Given the description of an element on the screen output the (x, y) to click on. 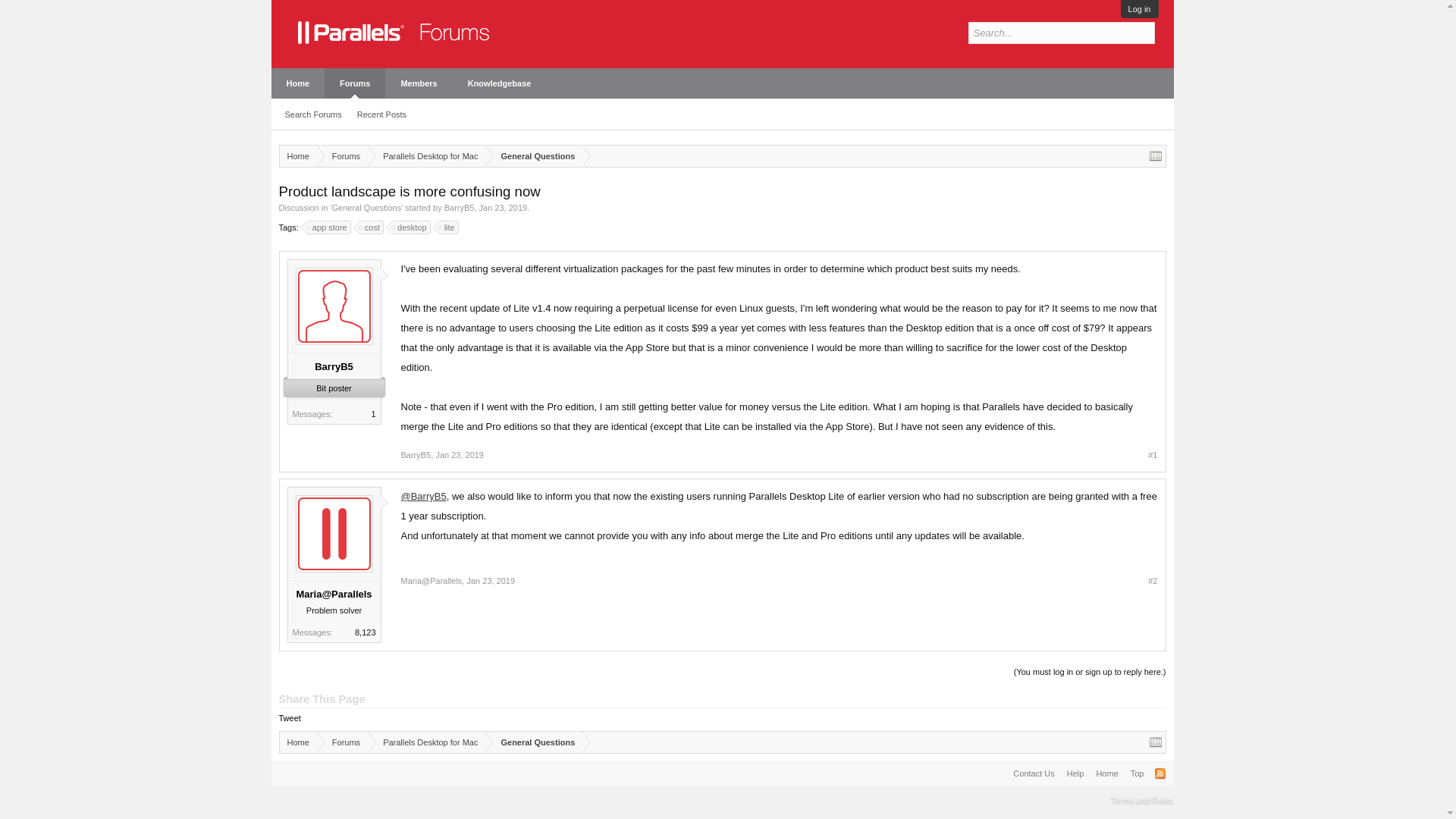
Home (297, 82)
BarryB5 (459, 207)
Jan 23, 2019 (490, 580)
General Questions (533, 156)
Forums (342, 156)
desktop (411, 227)
Recent Posts (381, 114)
BarryB5 (334, 366)
BarryB5 (415, 454)
app store (328, 227)
